Given the description of an element on the screen output the (x, y) to click on. 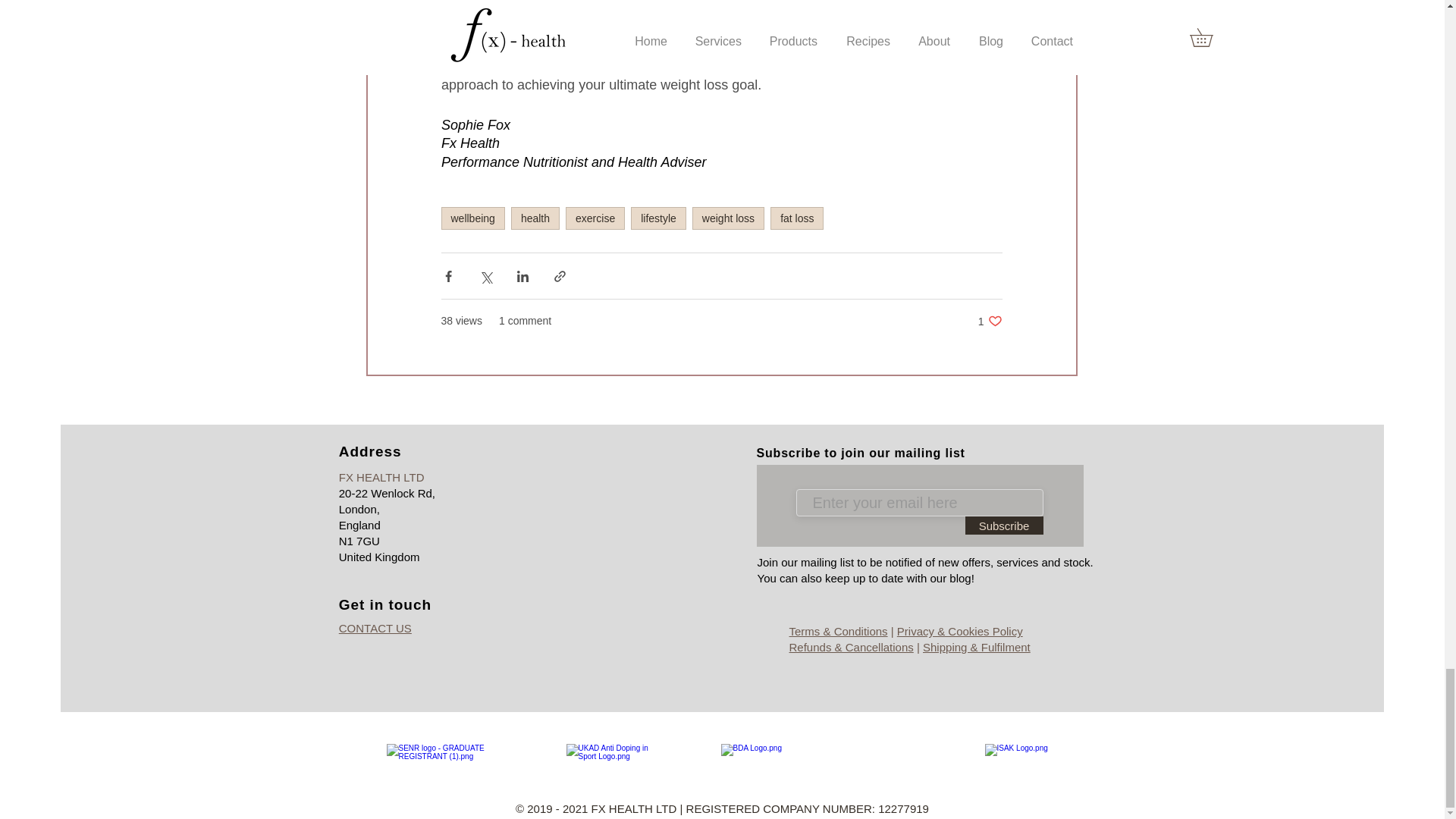
wellbeing (473, 218)
CONTACT US (375, 627)
lifestyle (657, 218)
fat loss (797, 218)
Fx Health (470, 142)
weight loss (990, 320)
health (728, 218)
Subscribe (535, 218)
exercise (1004, 525)
